Given the description of an element on the screen output the (x, y) to click on. 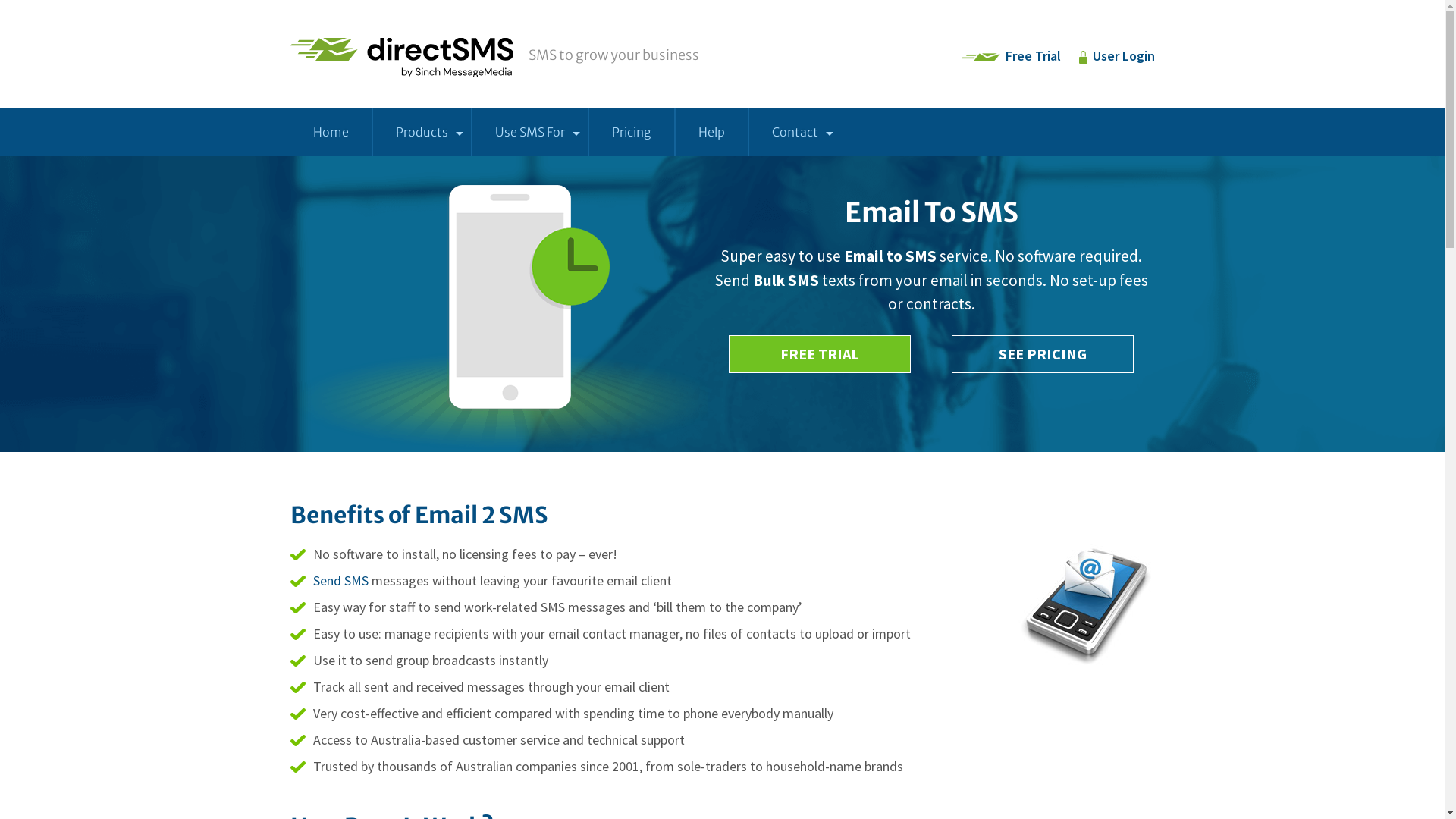
Bulk SMS Element type: text (786, 279)
Email To SMS T2 Element type: hover (1085, 605)
SEE PRICING Element type: text (1042, 354)
FREE TRIAL Element type: text (819, 354)
Home Element type: text (329, 131)
Pricing Element type: text (630, 131)
Use SMS For Element type: text (528, 131)
Products Element type: text (421, 131)
DIRECTSMS BY SINCH MESSAGEMEDIA Element type: text (400, 57)
Send SMS Element type: text (339, 580)
User Login Element type: text (1123, 55)
Contact Element type: text (794, 131)
Help Element type: text (710, 131)
Email To SMS T1 Element type: hover (498, 328)
Free Trial Element type: text (1032, 55)
